Given the description of an element on the screen output the (x, y) to click on. 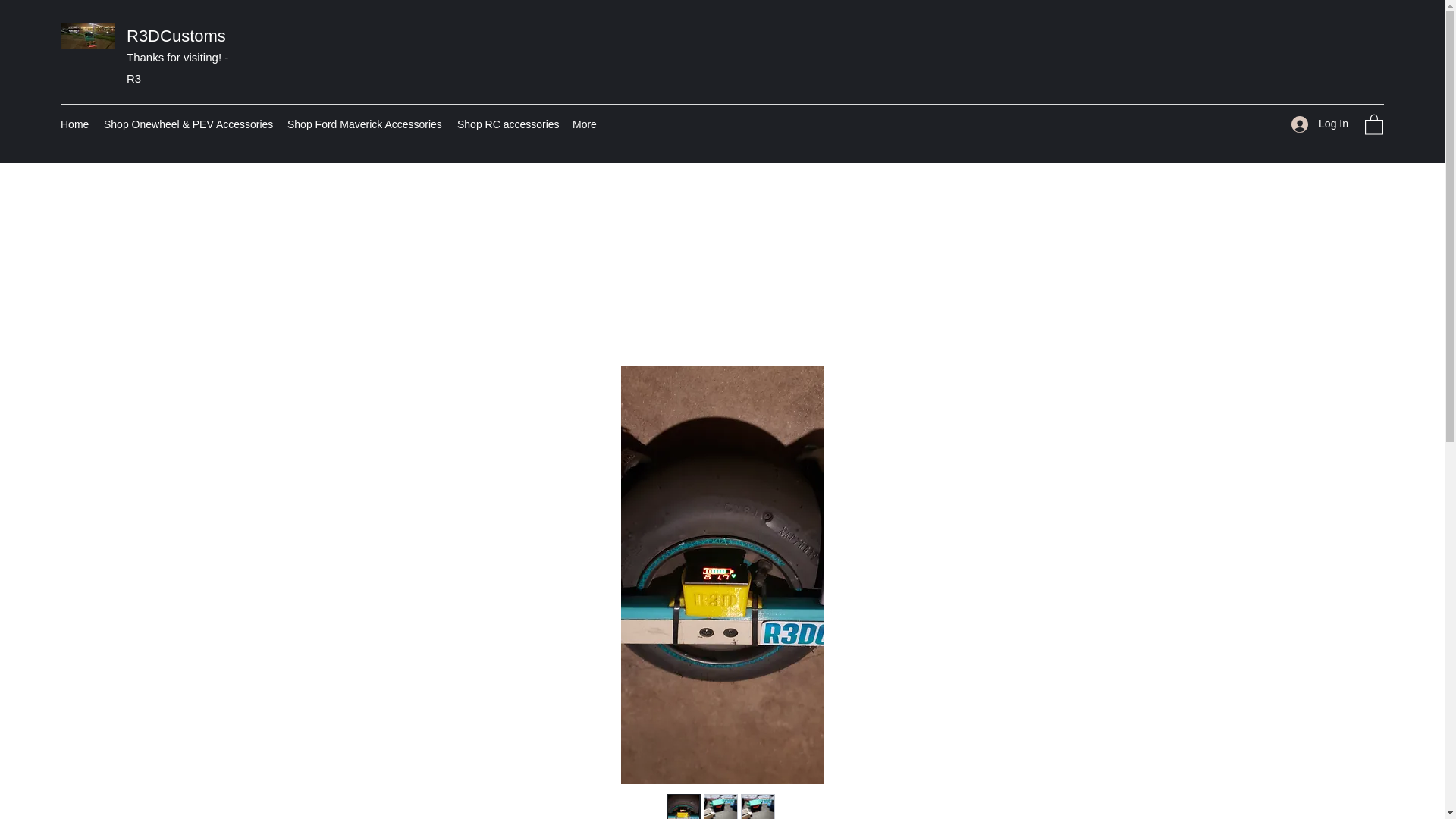
Log In (1319, 123)
Shop Ford Maverick Accessories (364, 124)
Shop RC accessories (506, 124)
Home (74, 124)
